Given the description of an element on the screen output the (x, y) to click on. 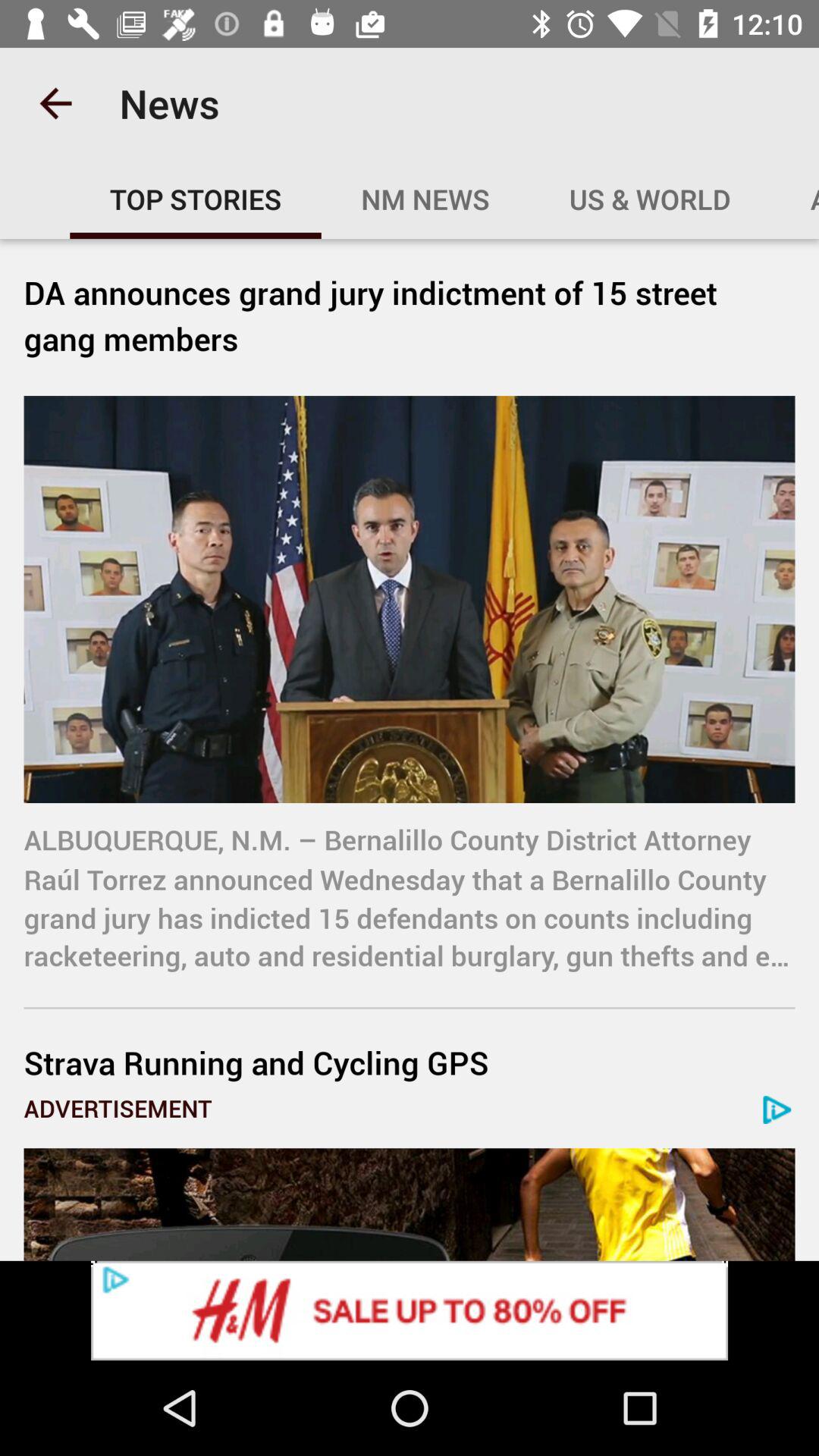
advertisement (409, 1204)
